Given the description of an element on the screen output the (x, y) to click on. 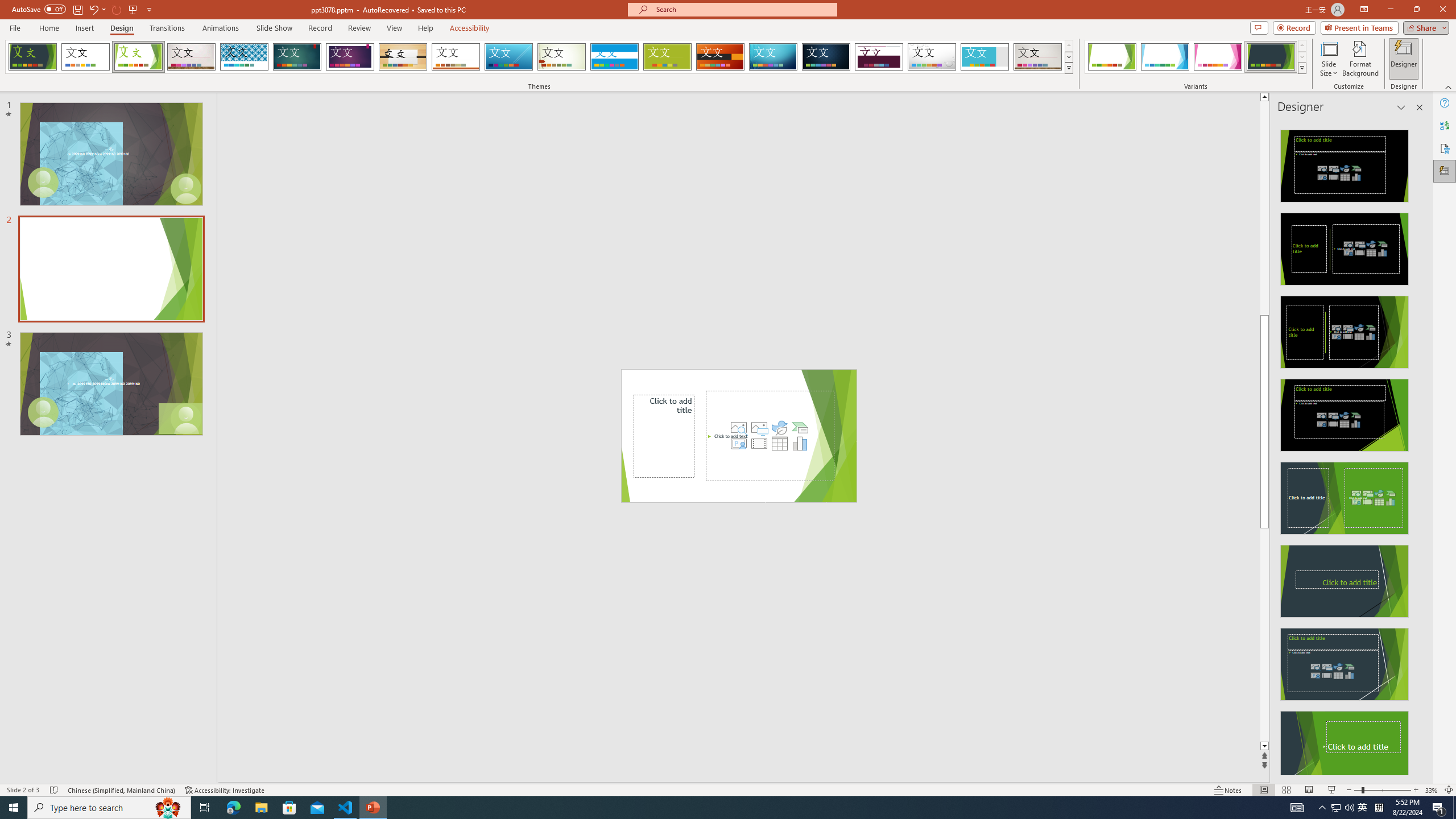
Translator (1444, 125)
Facet (138, 56)
Pictures (758, 427)
Title TextBox (663, 435)
Slice (508, 56)
